Given the description of an element on the screen output the (x, y) to click on. 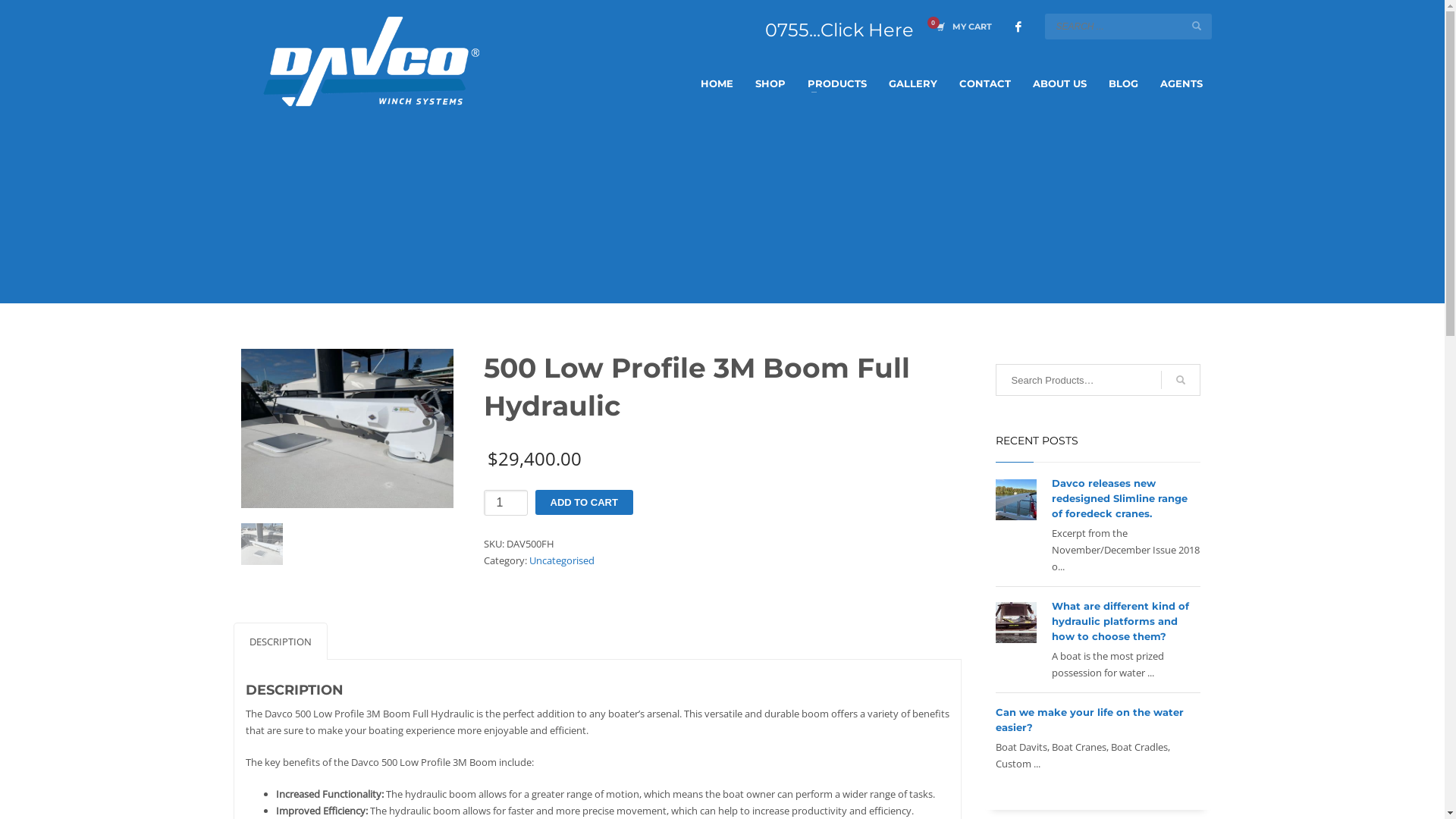
Search Element type: text (1179, 379)
PRODUCTS Element type: text (836, 83)
Can we make your life on the water easier? Element type: text (1088, 719)
0755...Click Here Element type: text (838, 30)
DESCRIPTION Element type: text (280, 640)
IMG_4235 Element type: hover (347, 428)
SHOP Element type: text (770, 83)
Uncategorised Element type: text (561, 560)
ABOUT US Element type: text (1059, 83)
Davits & Marine Cranes Element type: hover (370, 60)
AGENTS Element type: text (1181, 83)
ADD TO CART Element type: text (584, 501)
GALLERY Element type: text (912, 83)
Facebook Element type: hover (1018, 26)
IMG_4232 Element type: hover (261, 543)
MY CART Element type: text (959, 26)
BLOG Element type: text (1123, 83)
CONTACT Element type: text (984, 83)
HOME Element type: text (716, 83)
Search for: Element type: hover (1096, 379)
go Element type: text (1196, 25)
